Given the description of an element on the screen output the (x, y) to click on. 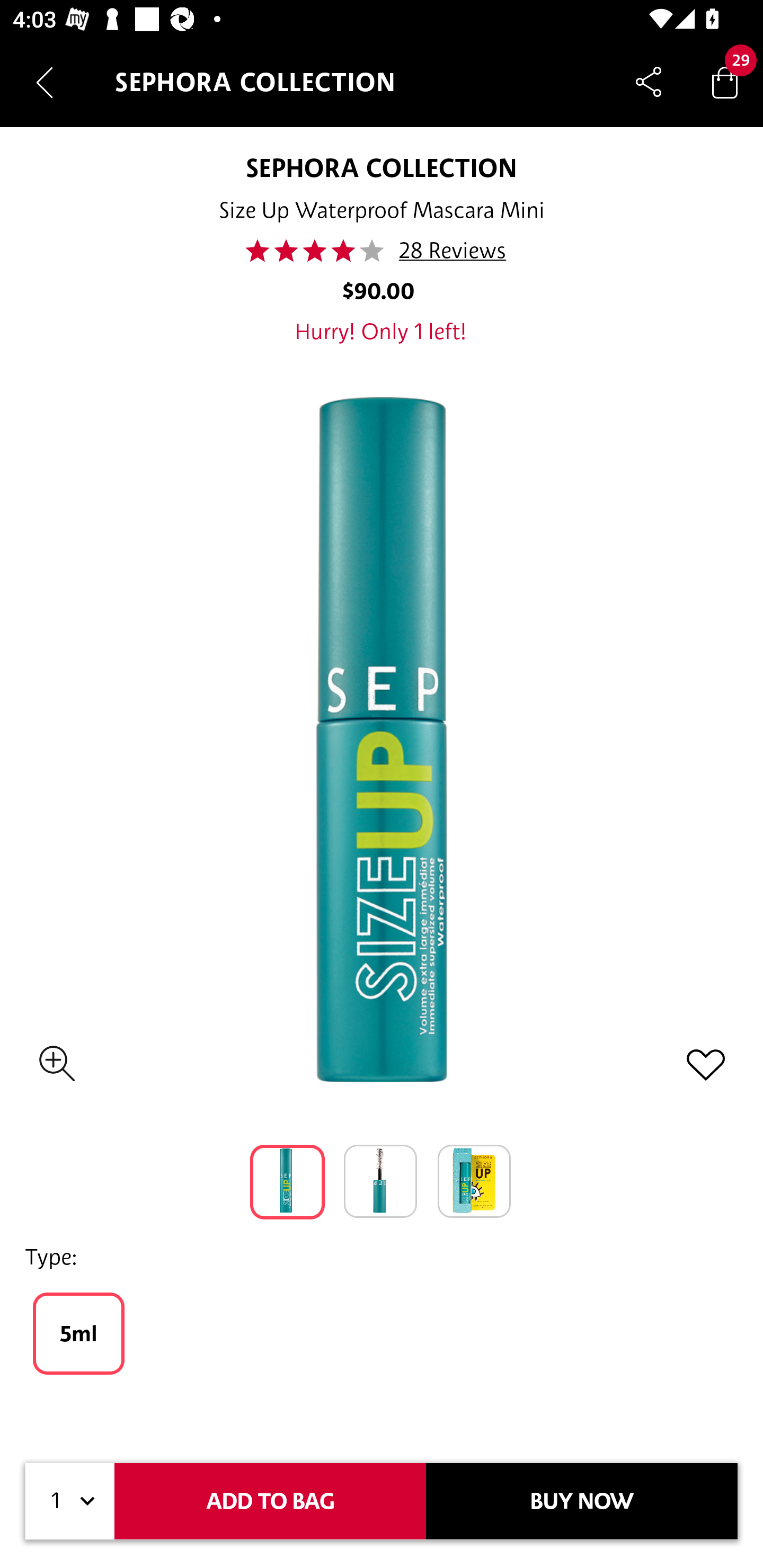
Navigate up (44, 82)
Share (648, 81)
Bag (724, 81)
SEPHORA COLLECTION (380, 167)
41.0 28 Reviews (381, 250)
5ml (78, 1333)
1 (69, 1500)
ADD TO BAG (269, 1500)
BUY NOW (581, 1500)
